Given the description of an element on the screen output the (x, y) to click on. 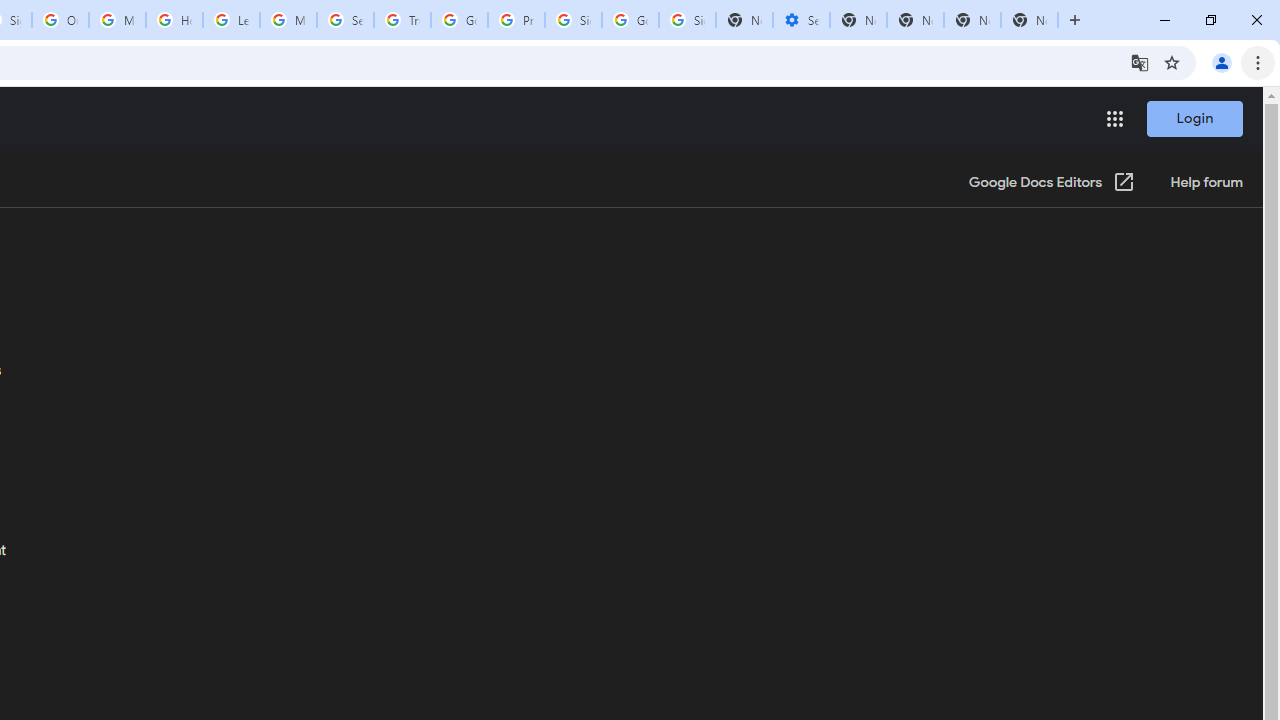
Google apps (1114, 118)
Settings - Performance (801, 20)
Search our Doodle Library Collection - Google Doodles (345, 20)
Translate this page (1139, 62)
Chrome (1260, 62)
Bookmark this tab (1171, 62)
You (1221, 62)
New Tab (1029, 20)
Restore (1210, 20)
Google Ads - Sign in (459, 20)
